Given the description of an element on the screen output the (x, y) to click on. 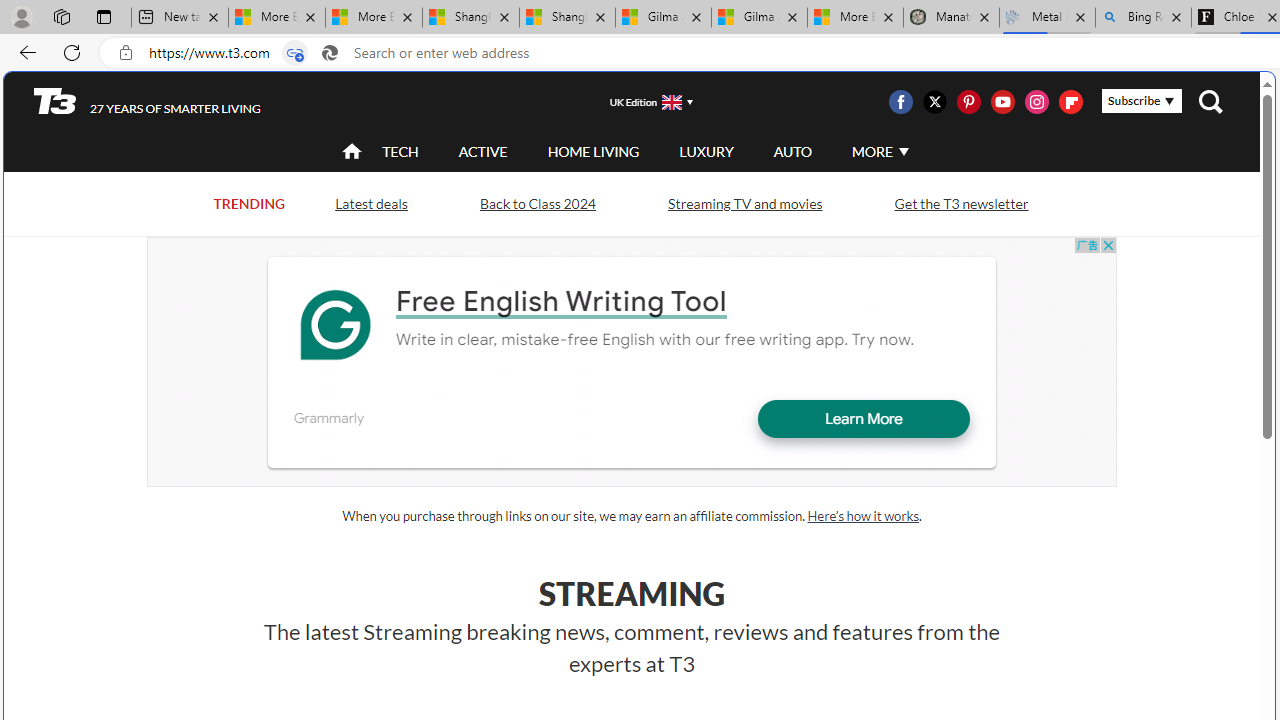
Visit us on Flipboard (1070, 101)
Streaming TV and movies (744, 202)
T3 27 YEARS OF SMARTER LIVING (147, 101)
Personal Profile (21, 16)
TECH (399, 151)
AUTO (792, 151)
Class: navigation__search (1210, 101)
Back to Class 2024 (537, 204)
Tabs in split screen (294, 53)
Visit us on Youtube (1002, 101)
ACTIVE (483, 151)
Shanghai, China weather forecast | Microsoft Weather (567, 17)
Class: navigation__item (350, 151)
Visit us on Facebook (900, 101)
